Given the description of an element on the screen output the (x, y) to click on. 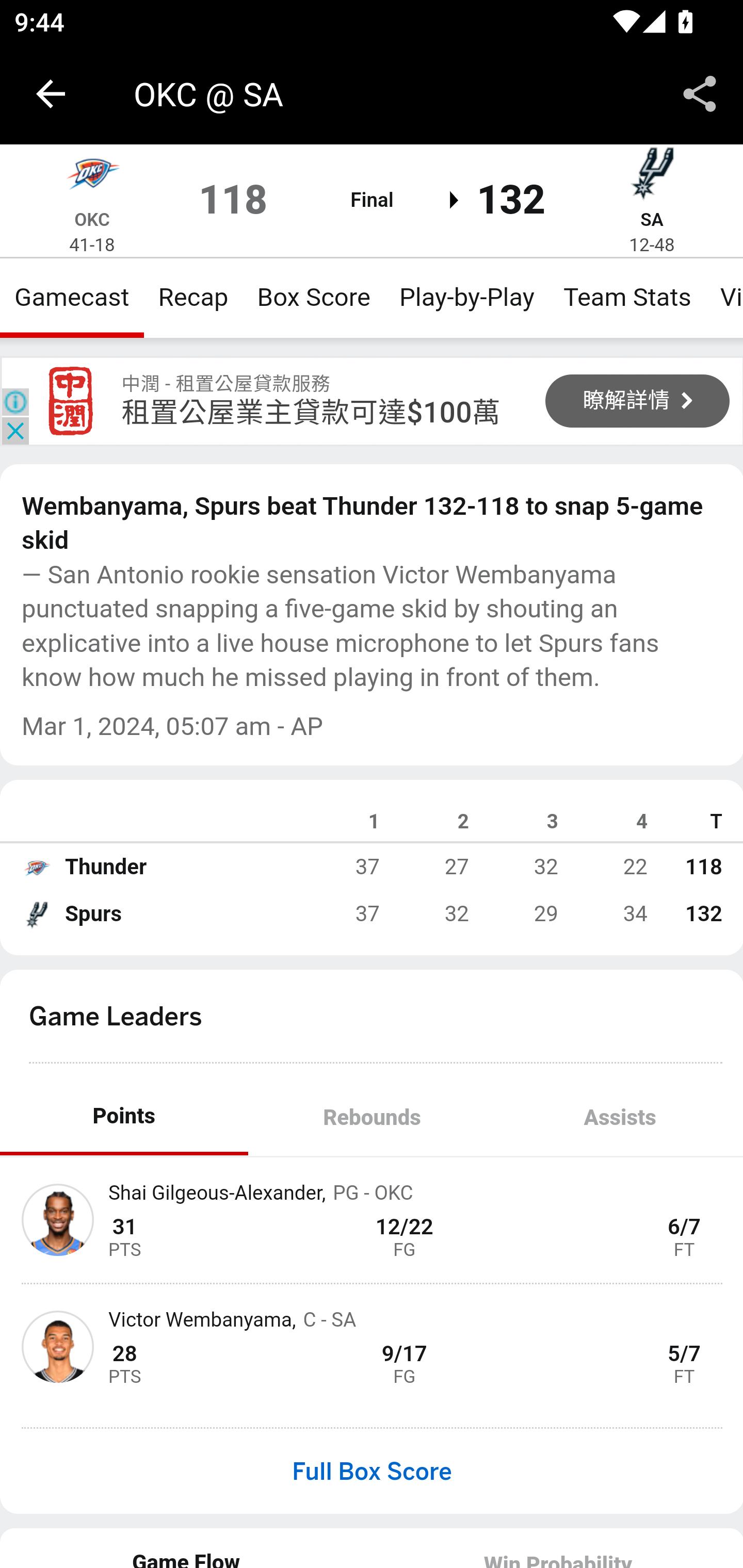
Navigate up (50, 93)
Share (699, 93)
Oklahoma City Thunder (91, 177)
San Antonio Spurs (651, 177)
OKC (91, 219)
SA (651, 219)
Gamecast (72, 296)
Recap (192, 296)
Box Score (314, 296)
Play-by-Play (466, 296)
Team Stats (627, 296)
中潤 - 租置公屋貸款服務 (71, 401)
中潤 - 租置公屋貸款服務 (226, 383)
瞭解詳情 (638, 400)
租置公屋業主貸款可達$100萬 (311, 412)
Oklahoma City Thunder (36, 866)
San Antonio Spurs (36, 913)
Points (124, 1116)
Rebounds (371, 1116)
Assists (618, 1116)
Full Box Score (371, 1471)
Game Flow (186, 1547)
Win Probability (557, 1547)
